Given the description of an element on the screen output the (x, y) to click on. 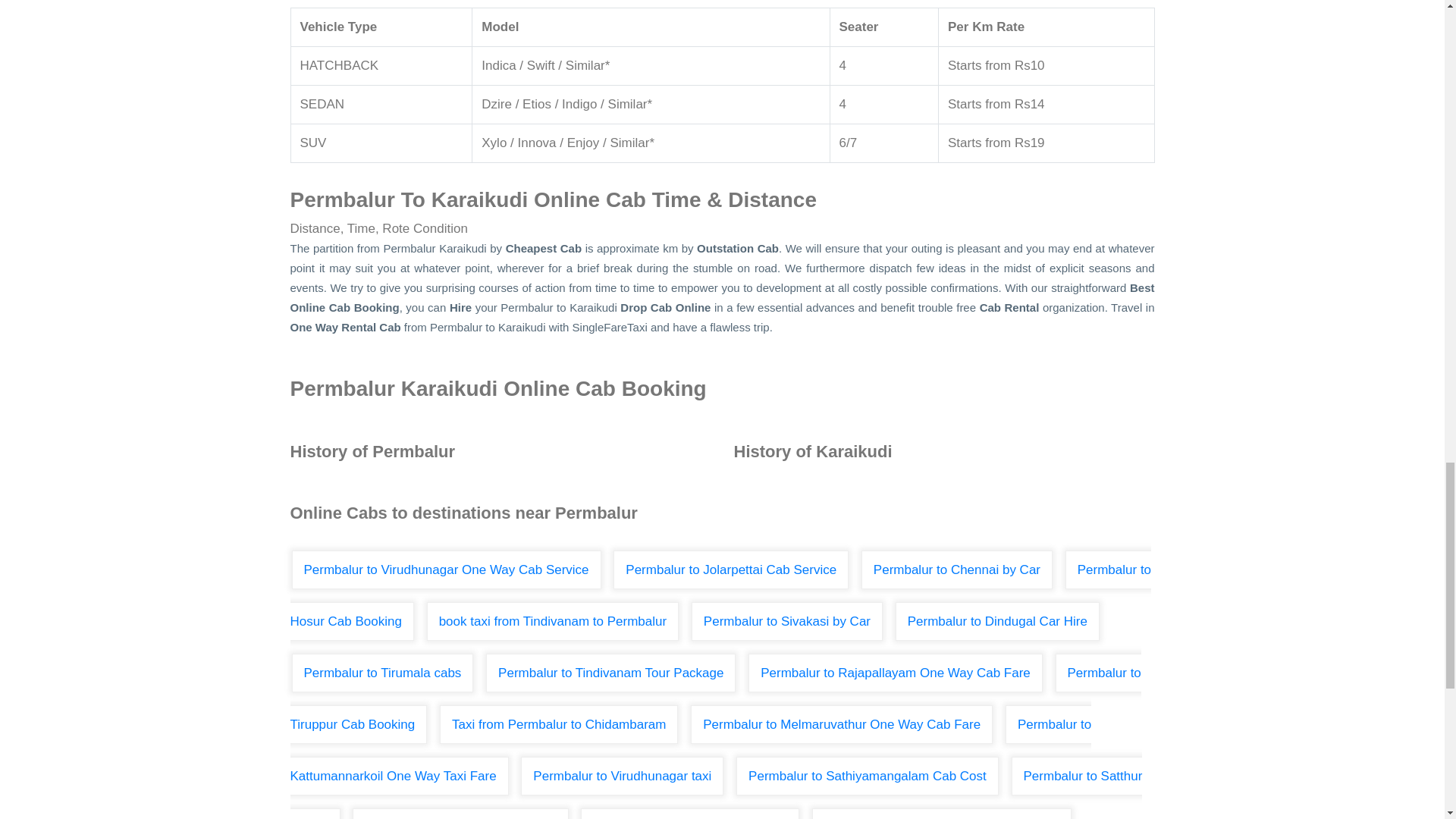
Permbalur to Virudhunagar One Way Cab Service (445, 569)
Dzire Cabs Permbalur (496, 104)
Permbalur to Tindivanam Tour Package (610, 672)
Permbalur to Satthur by Car (715, 787)
Book taxi from tindivanam to permbalur (552, 620)
Permbalur to Melmaruvathur One Way Cab Fare (841, 724)
Permbalur to hosur cab booking (720, 595)
Permbalur to Kattumannarkoil One Way Taxi Fare (689, 750)
Permbalur to Jolarpettai Cab Service (730, 569)
Etios Cabs Permbalur (536, 104)
Permbalur to Virudhunagar taxi (622, 775)
Dzire (496, 104)
Permbalur to chennai by car (956, 569)
Permbalur to jolarpettai cab service (730, 569)
Permbalur to Dindugal Car Hire (997, 620)
